Given the description of an element on the screen output the (x, y) to click on. 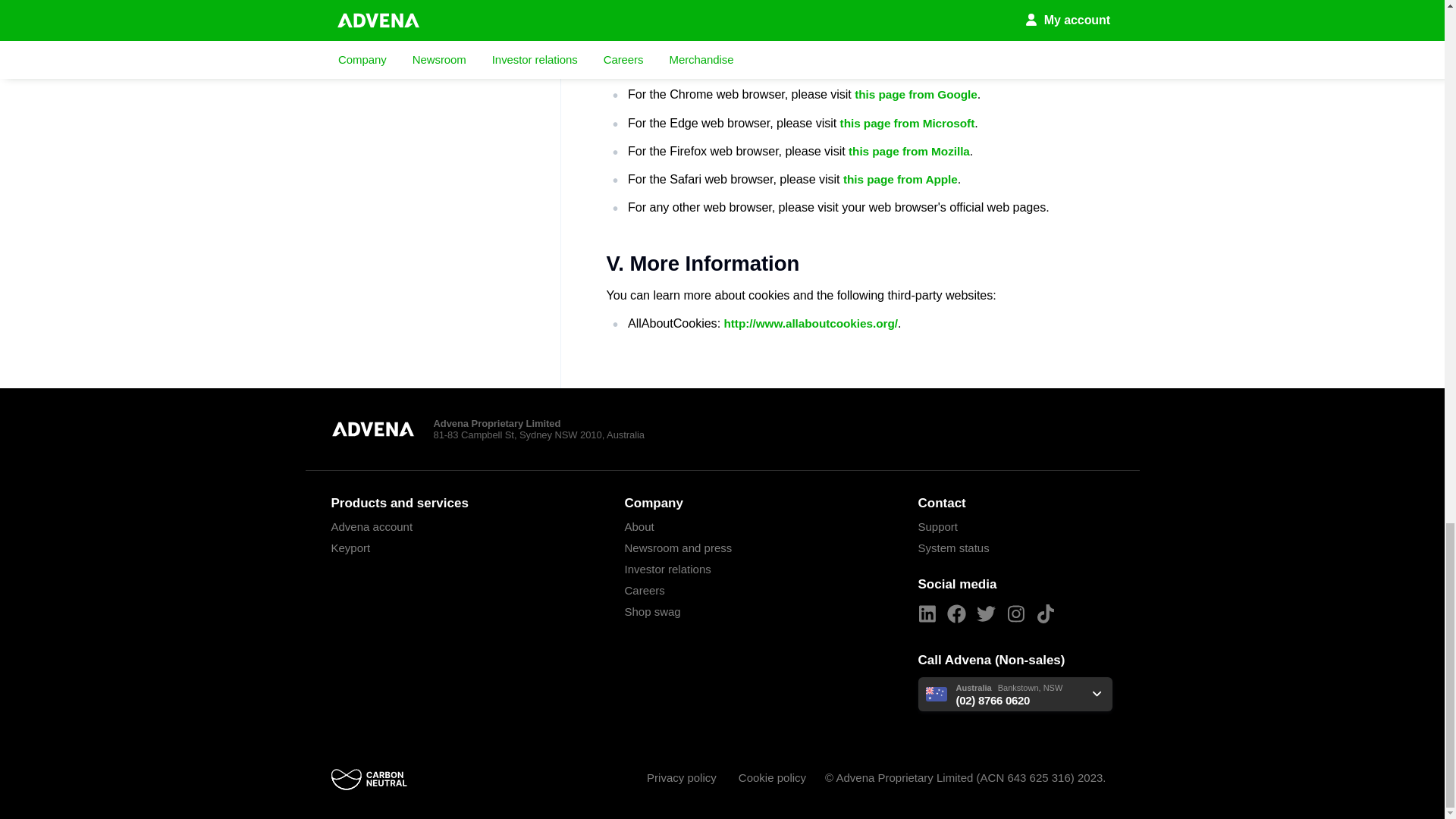
this page from Microsoft (907, 123)
this page from Google (915, 95)
this page from Mozilla (908, 151)
this page from Apple (900, 180)
